Given the description of an element on the screen output the (x, y) to click on. 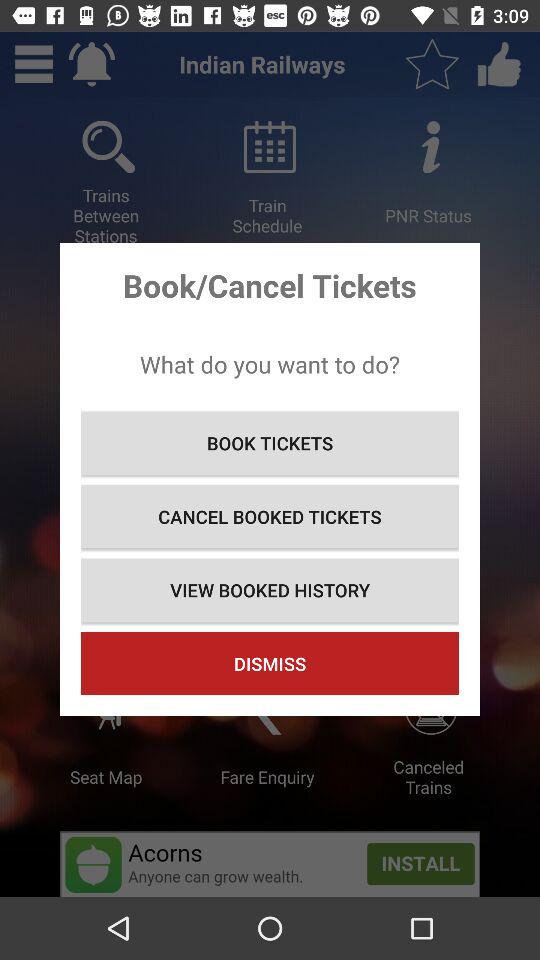
click the item below the cancel booked tickets icon (270, 589)
